Given the description of an element on the screen output the (x, y) to click on. 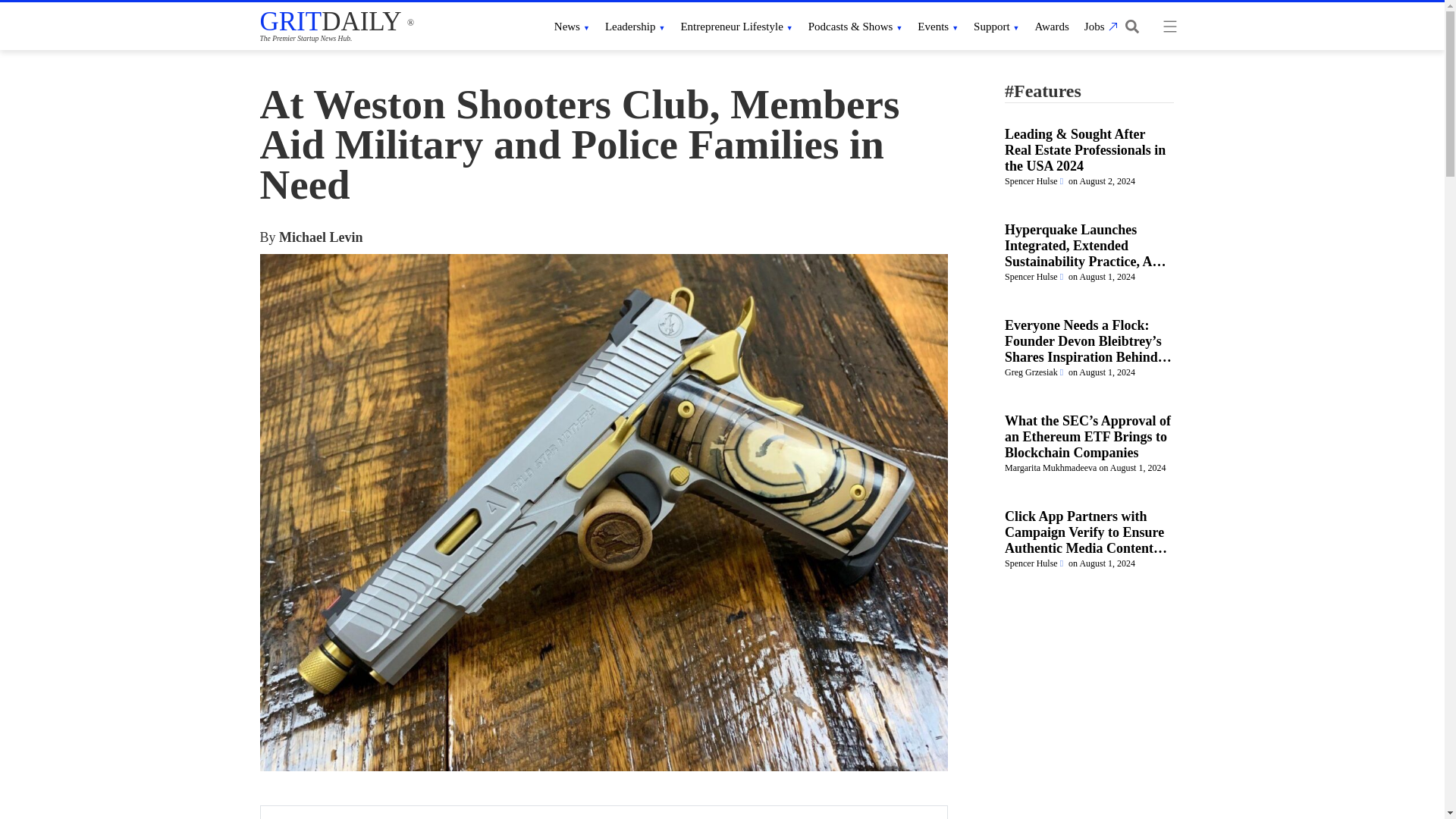
Jobs (1098, 25)
Events (937, 25)
Leadership (635, 25)
News (571, 25)
Support (996, 25)
Entrepreneur Lifestyle (735, 25)
Awards (1051, 25)
